Given the description of an element on the screen output the (x, y) to click on. 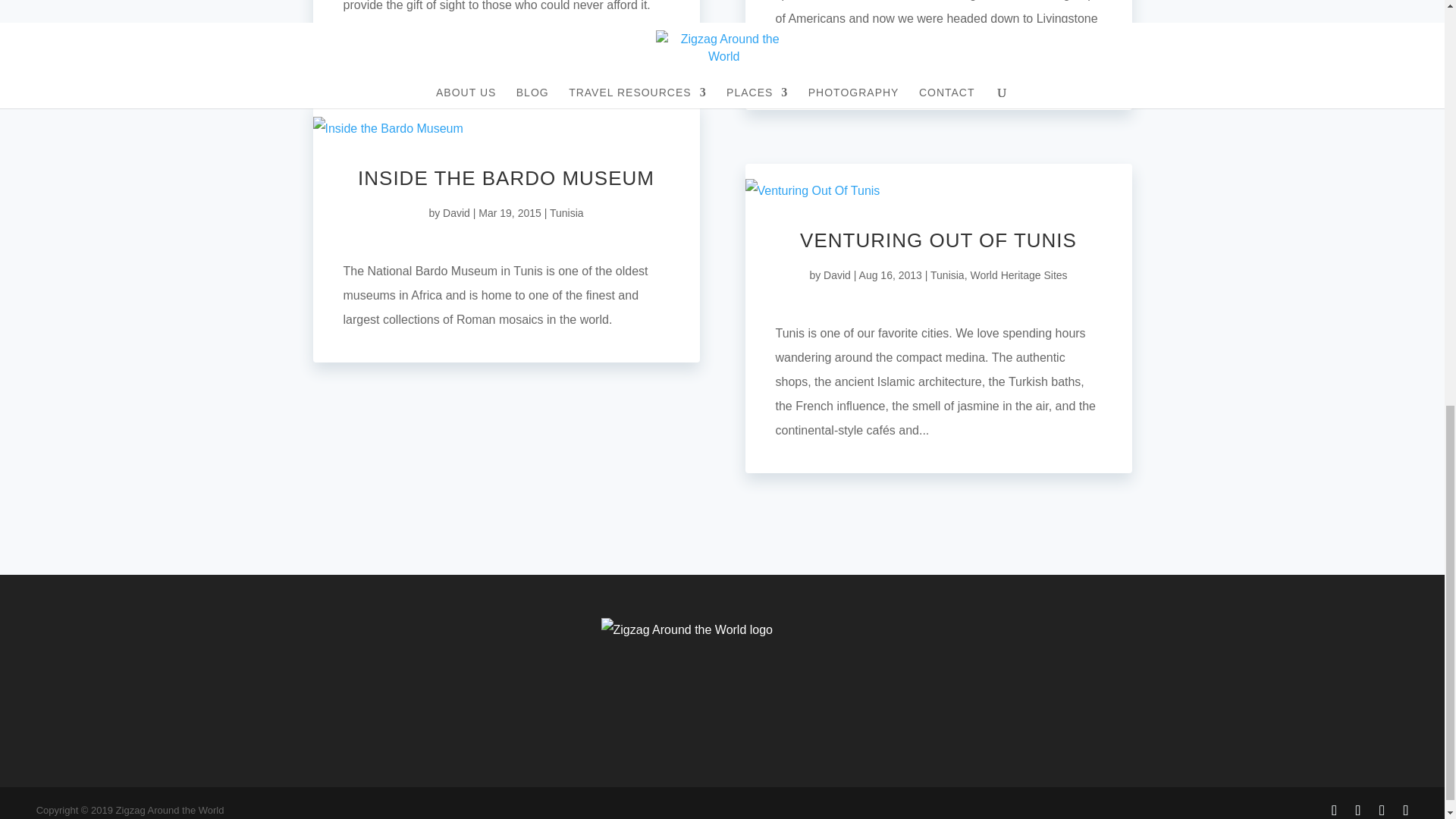
Posts by David (456, 213)
Posts by David (837, 275)
